Given the description of an element on the screen output the (x, y) to click on. 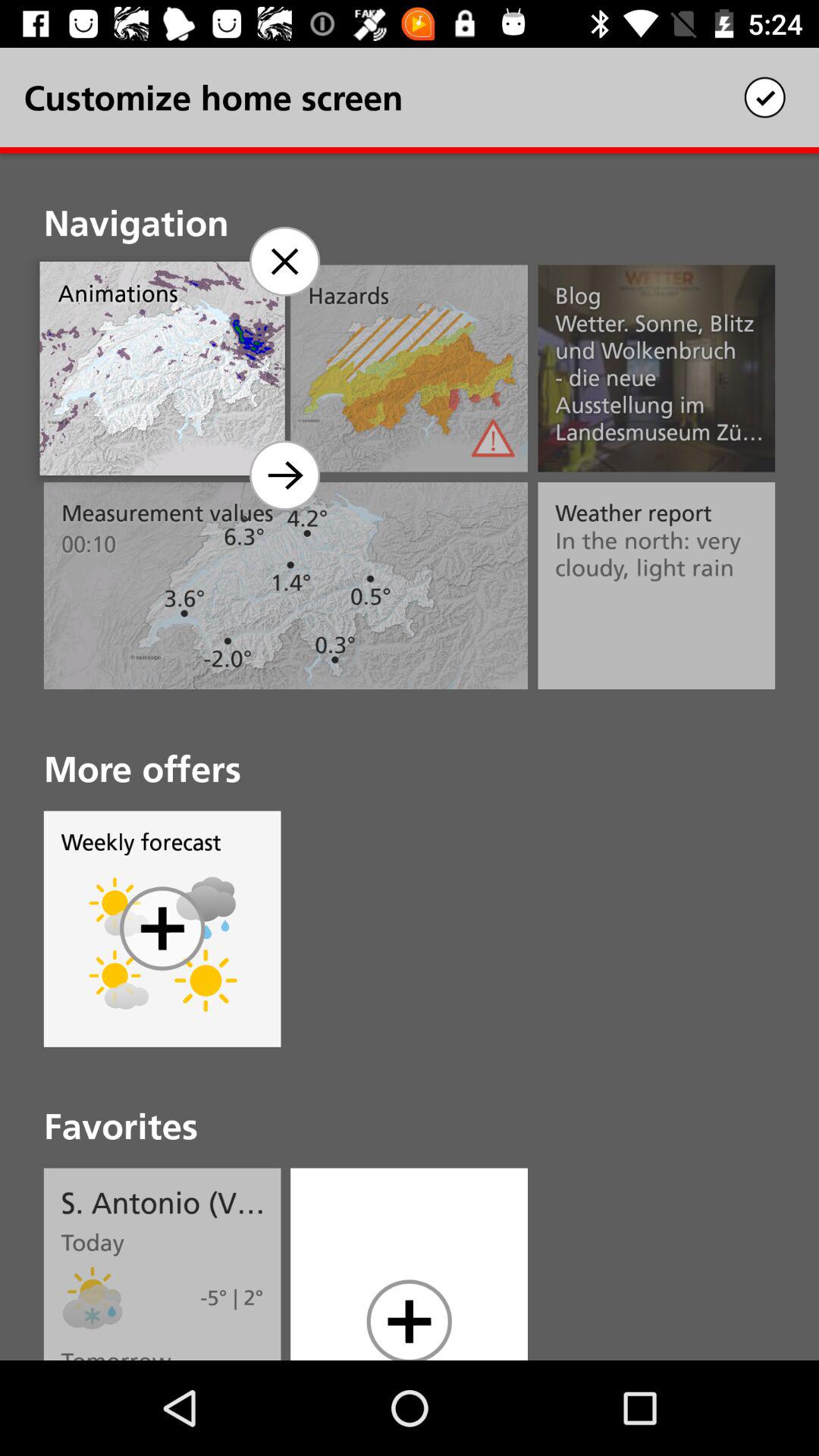
close navigation (284, 261)
